Given the description of an element on the screen output the (x, y) to click on. 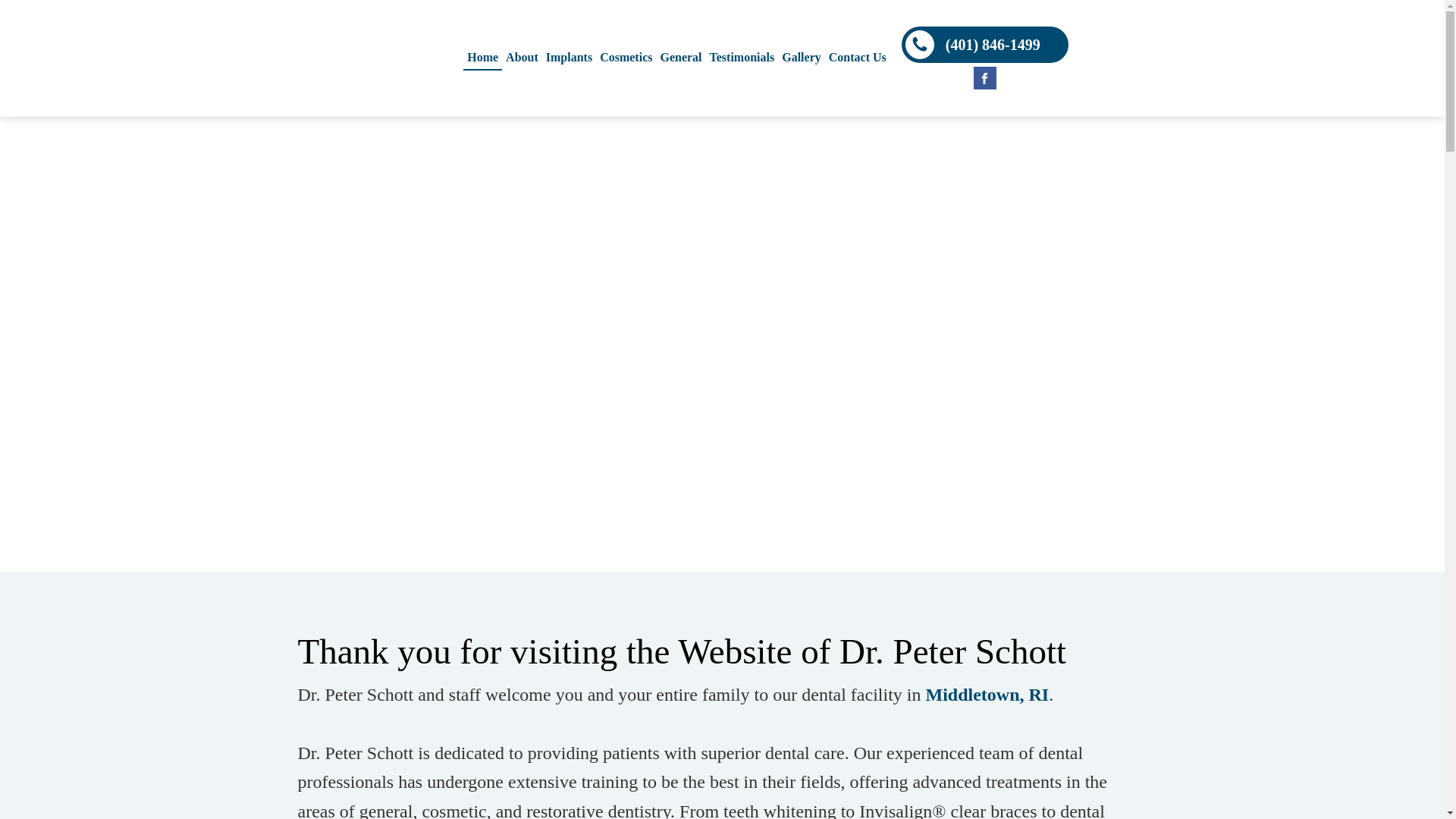
Gallery (801, 57)
Cosmetics (625, 57)
General (680, 57)
Testimonials (742, 57)
About (521, 57)
Home (482, 57)
Implants (568, 57)
Contact Us (857, 57)
